Given the description of an element on the screen output the (x, y) to click on. 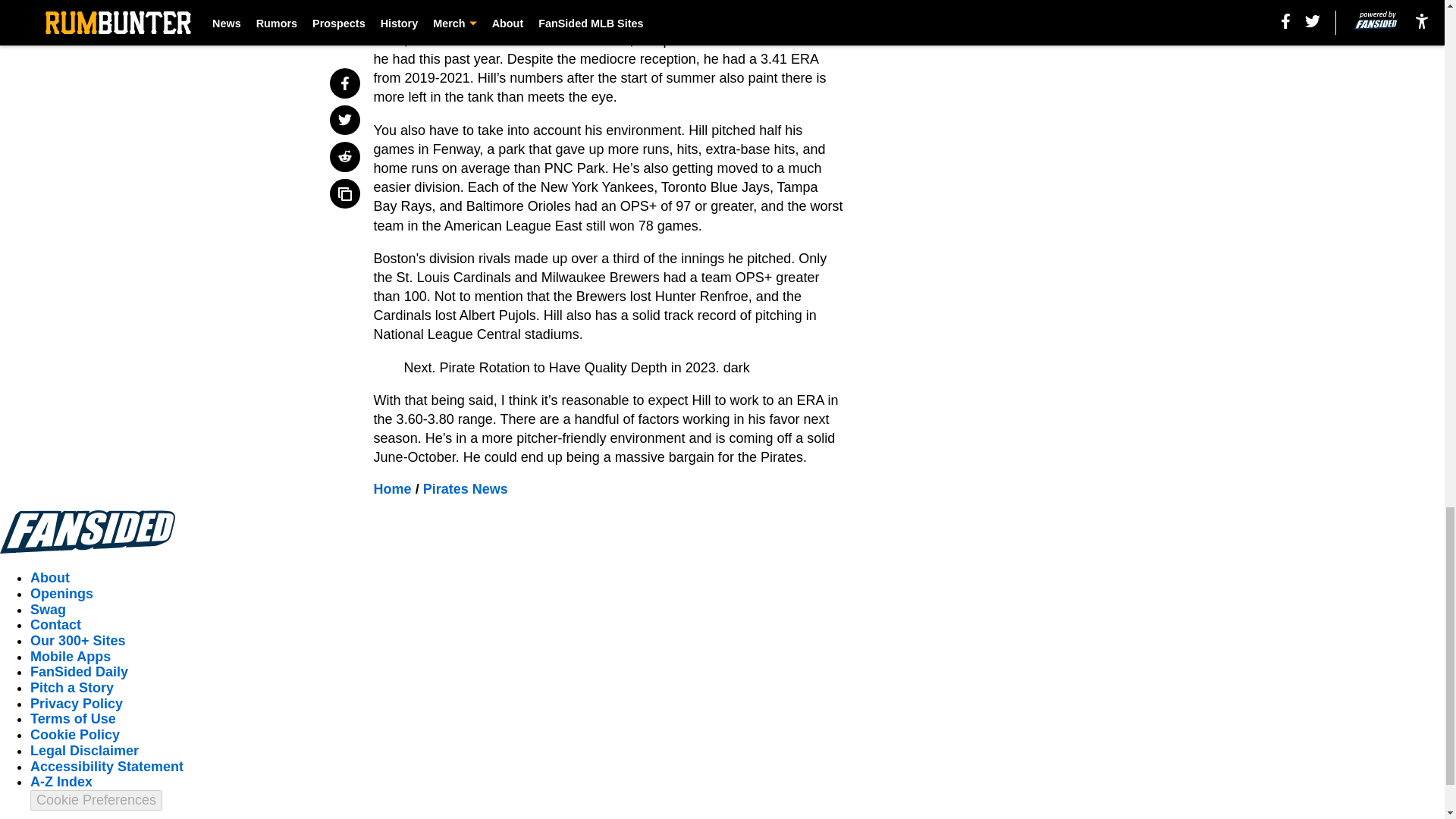
Home (393, 488)
About (49, 577)
Openings (61, 593)
Pirates News (465, 488)
Swag (47, 609)
Contact (55, 624)
